Given the description of an element on the screen output the (x, y) to click on. 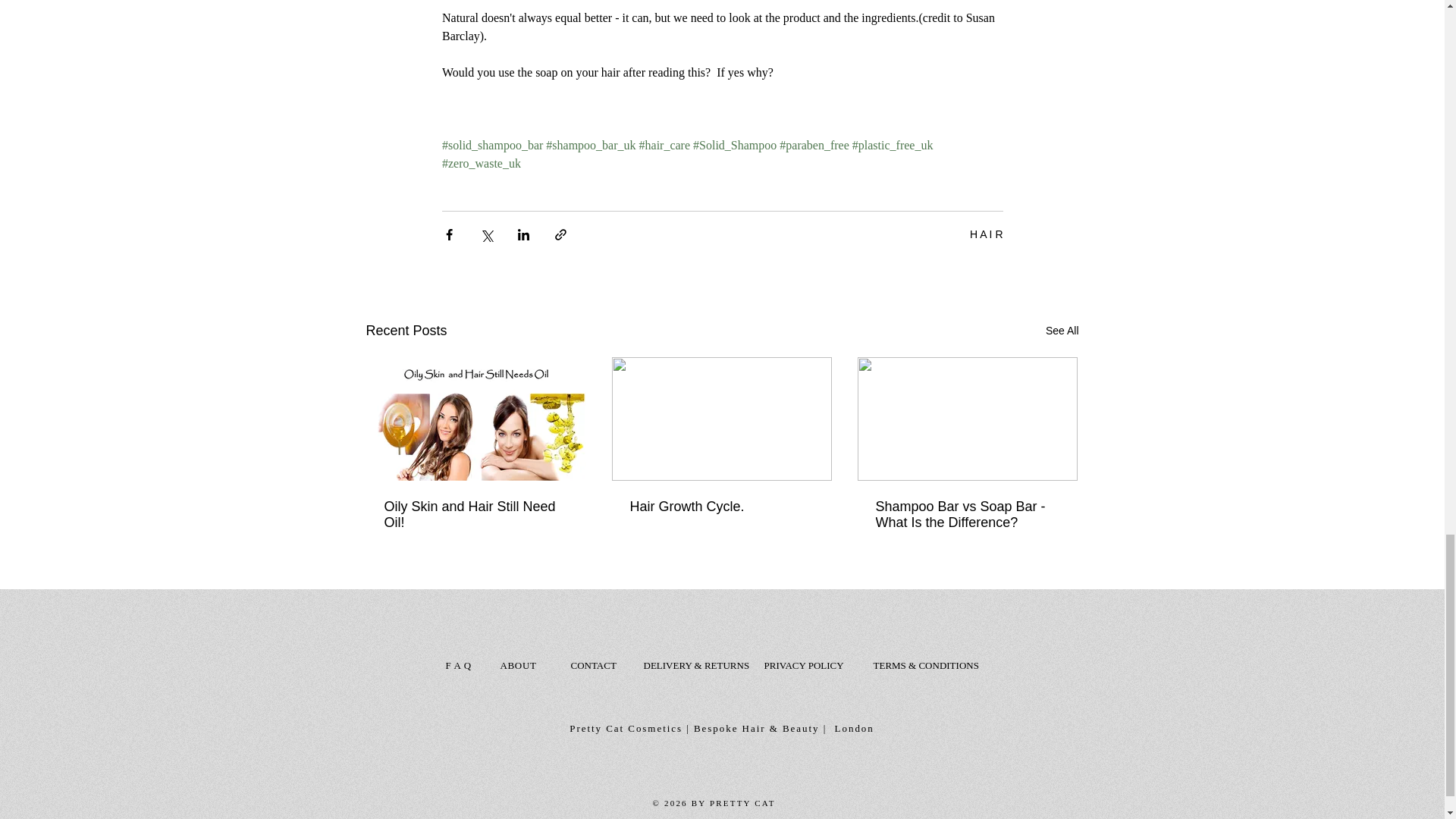
Oily Skin and Hair Still Need Oil! (475, 514)
Hair Growth Cycle. (720, 506)
See All (1061, 331)
F A Q (458, 665)
H A I R (986, 233)
Shampoo Bar vs Soap Bar - What Is the Difference? (966, 514)
